Given the description of an element on the screen output the (x, y) to click on. 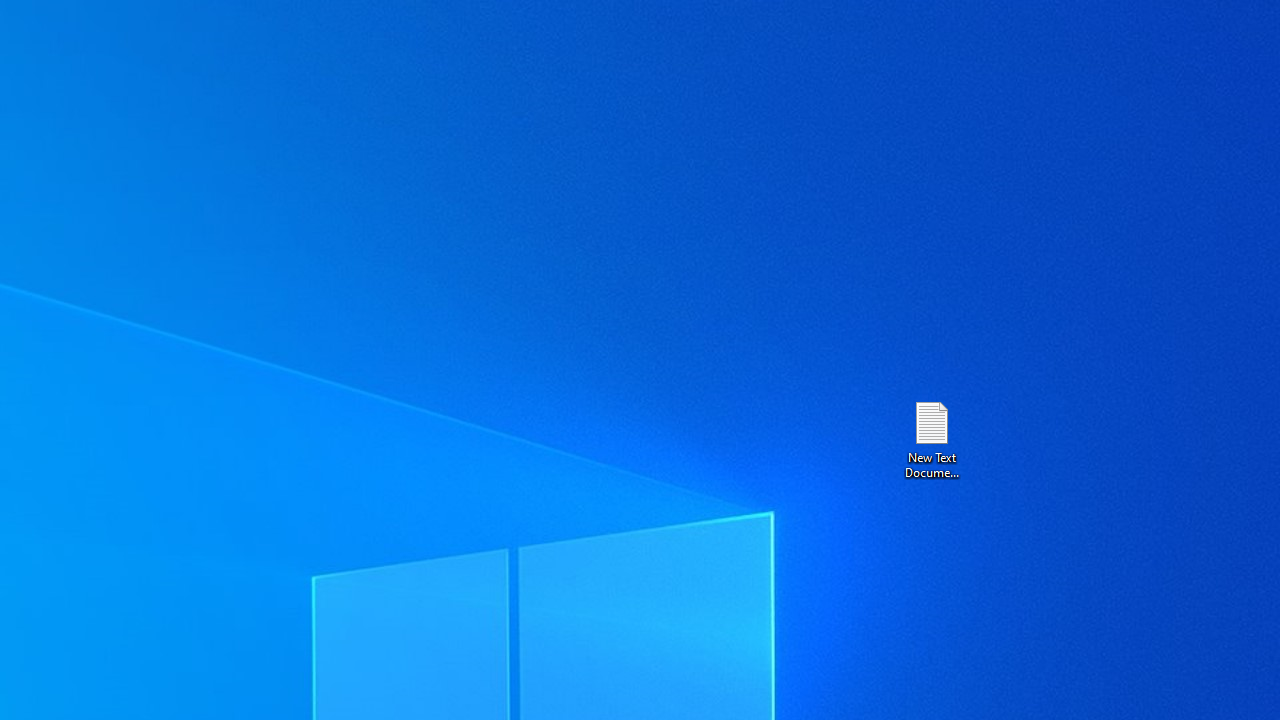
New Text Document (2) (931, 438)
